Given the description of an element on the screen output the (x, y) to click on. 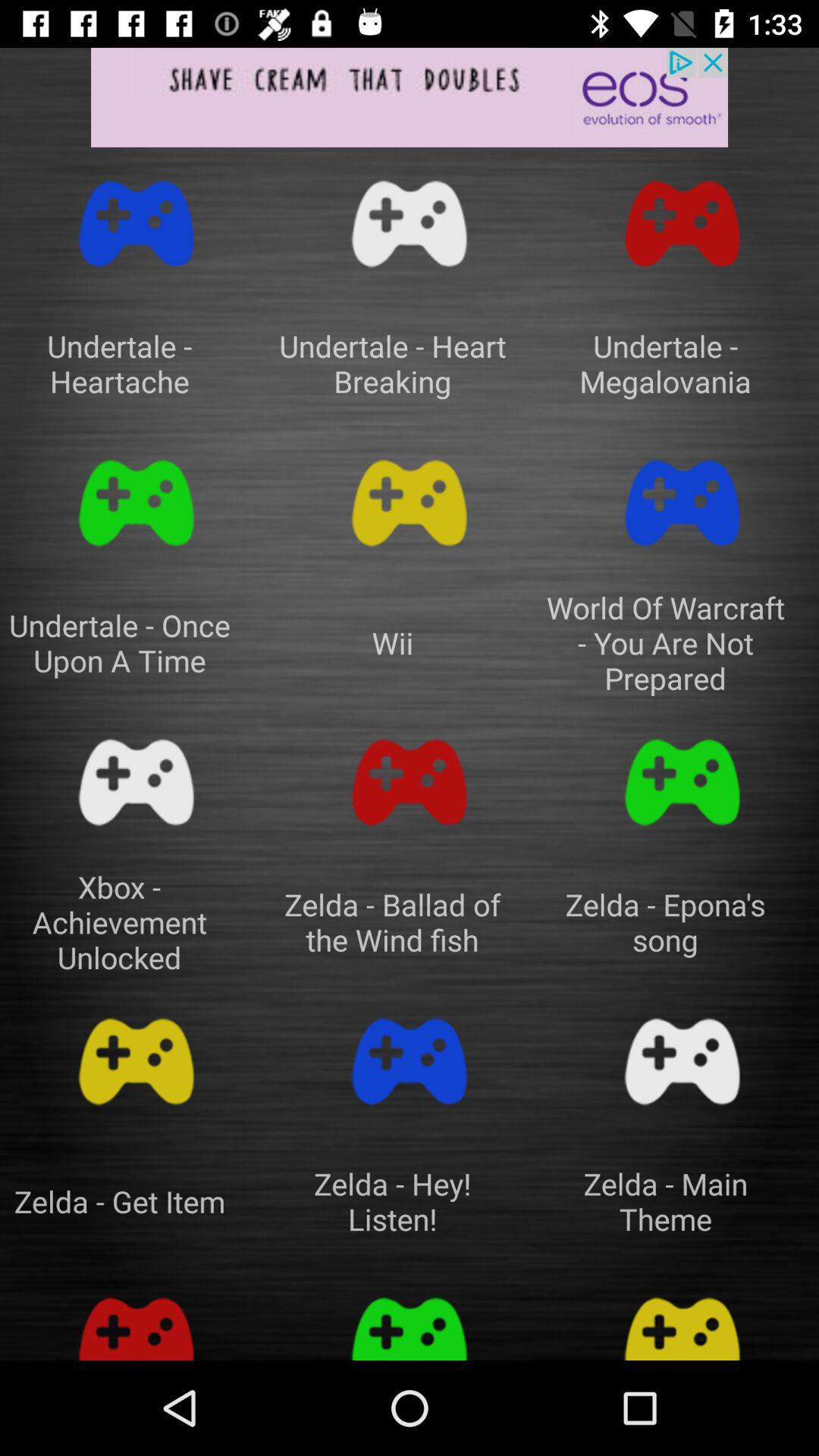
open game (682, 223)
